Given the description of an element on the screen output the (x, y) to click on. 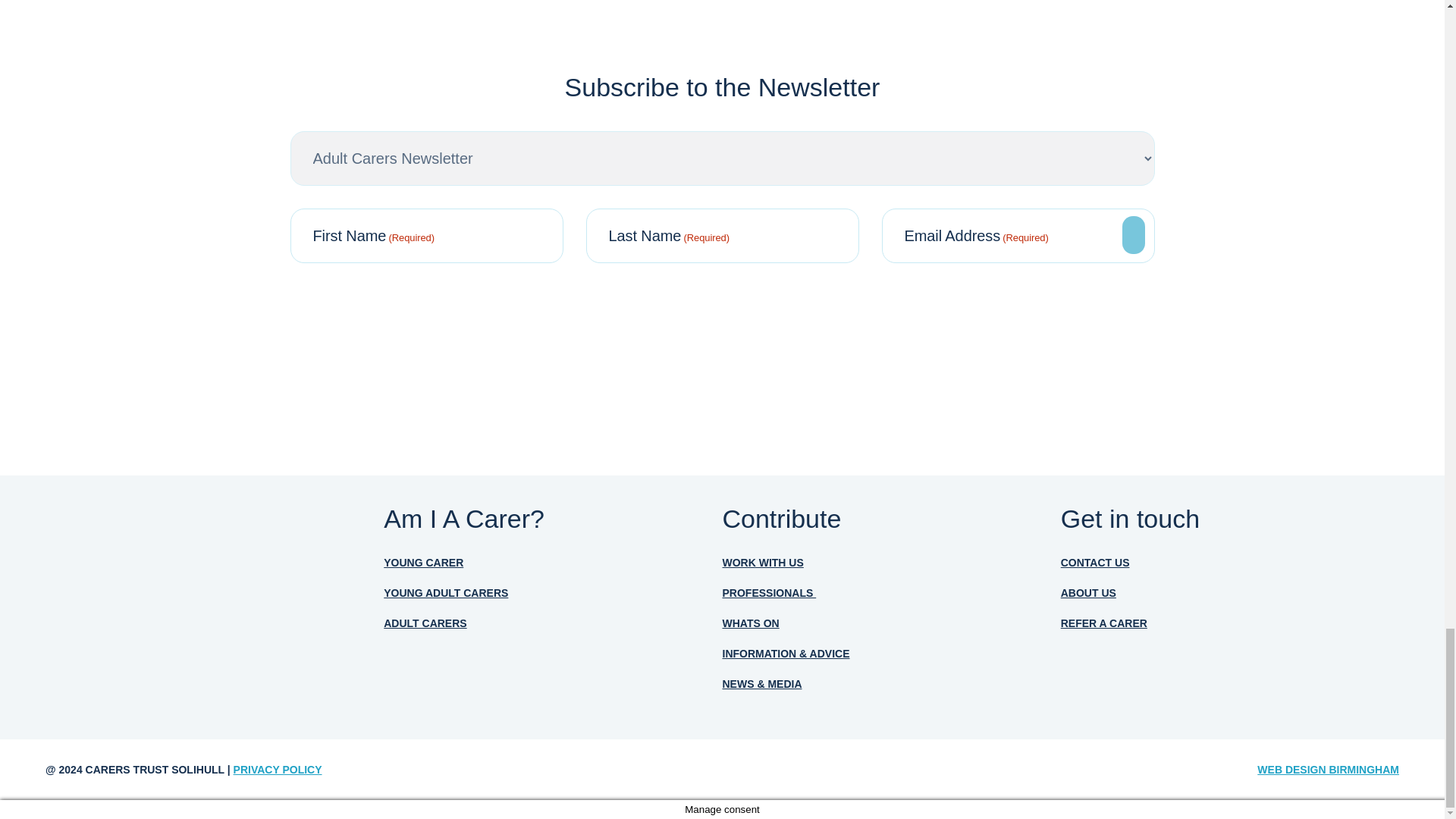
Social Media icons-04 (1297, 675)
Social Media icons-01 (1229, 675)
Social-Media-icons-02X (1094, 672)
Social Media icons-03 (1161, 675)
